Given the description of an element on the screen output the (x, y) to click on. 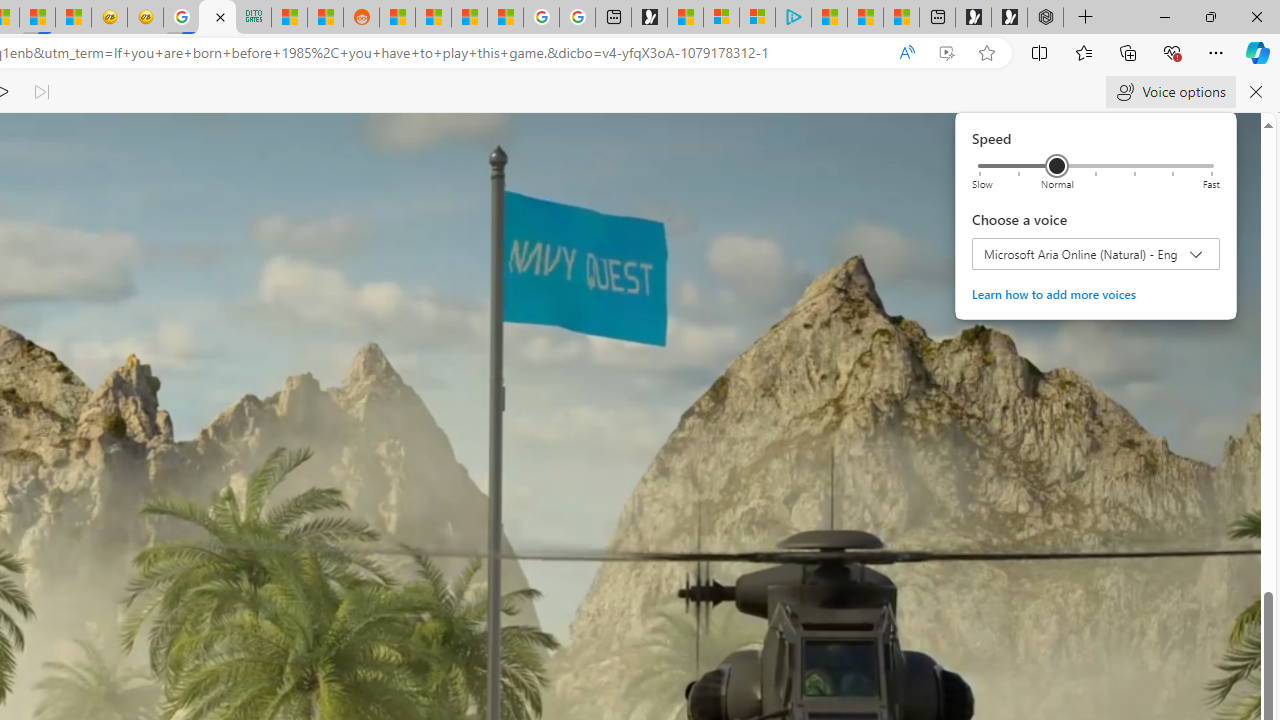
Microsoft account | Privacy (756, 17)
Nordace - Nordace Siena Is Not An Ordinary Backpack (1045, 17)
Enhance video (946, 53)
Navy Quest (217, 17)
